Given the description of an element on the screen output the (x, y) to click on. 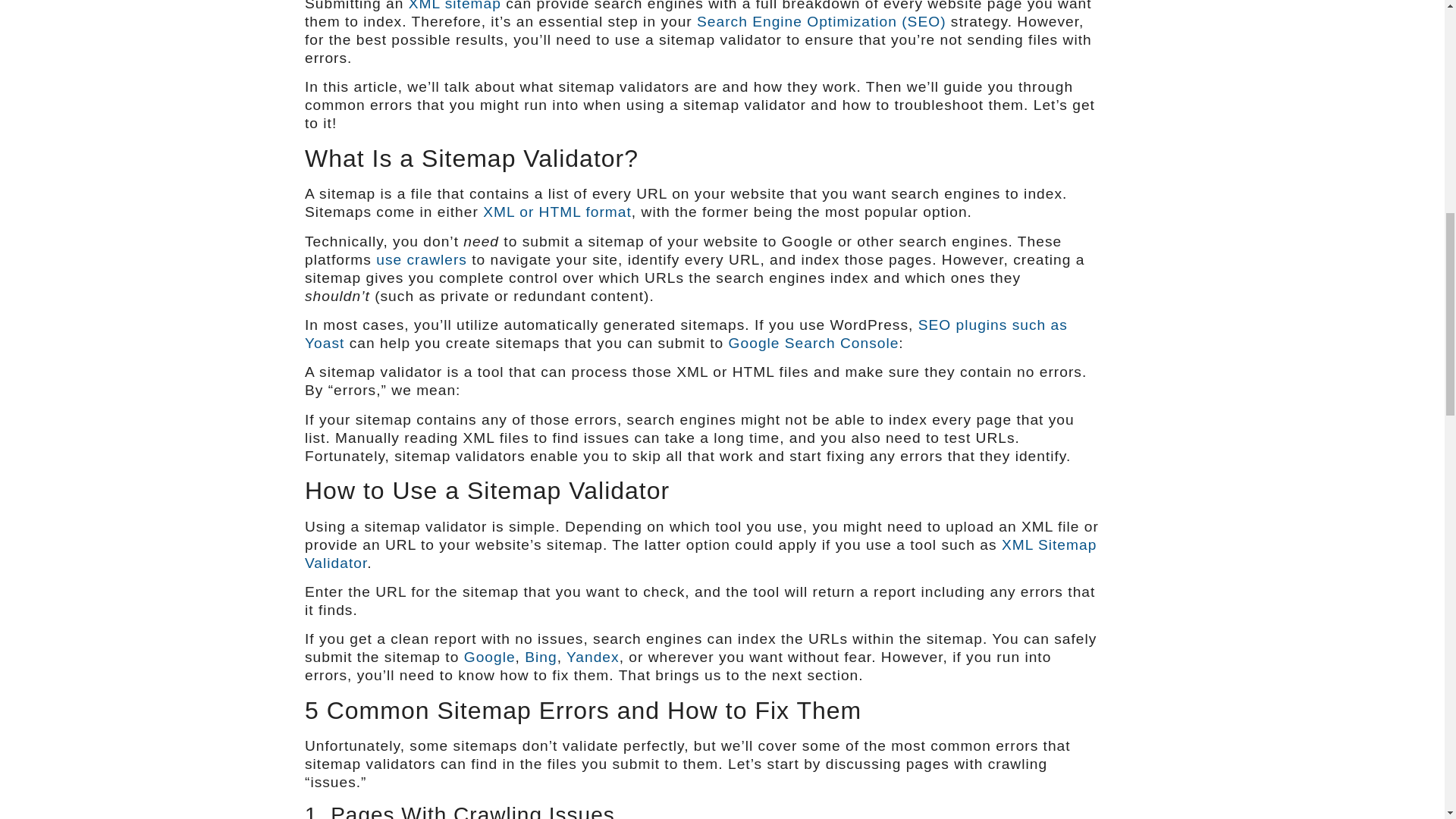
Google (489, 657)
XML Sitemap Validator (700, 553)
use crawlers (421, 259)
XML sitemap (454, 5)
SEO plugins such as Yoast (685, 333)
XML or HTML format (557, 211)
Bing (540, 657)
Google Search Console (814, 342)
Yandex (593, 657)
